Given the description of an element on the screen output the (x, y) to click on. 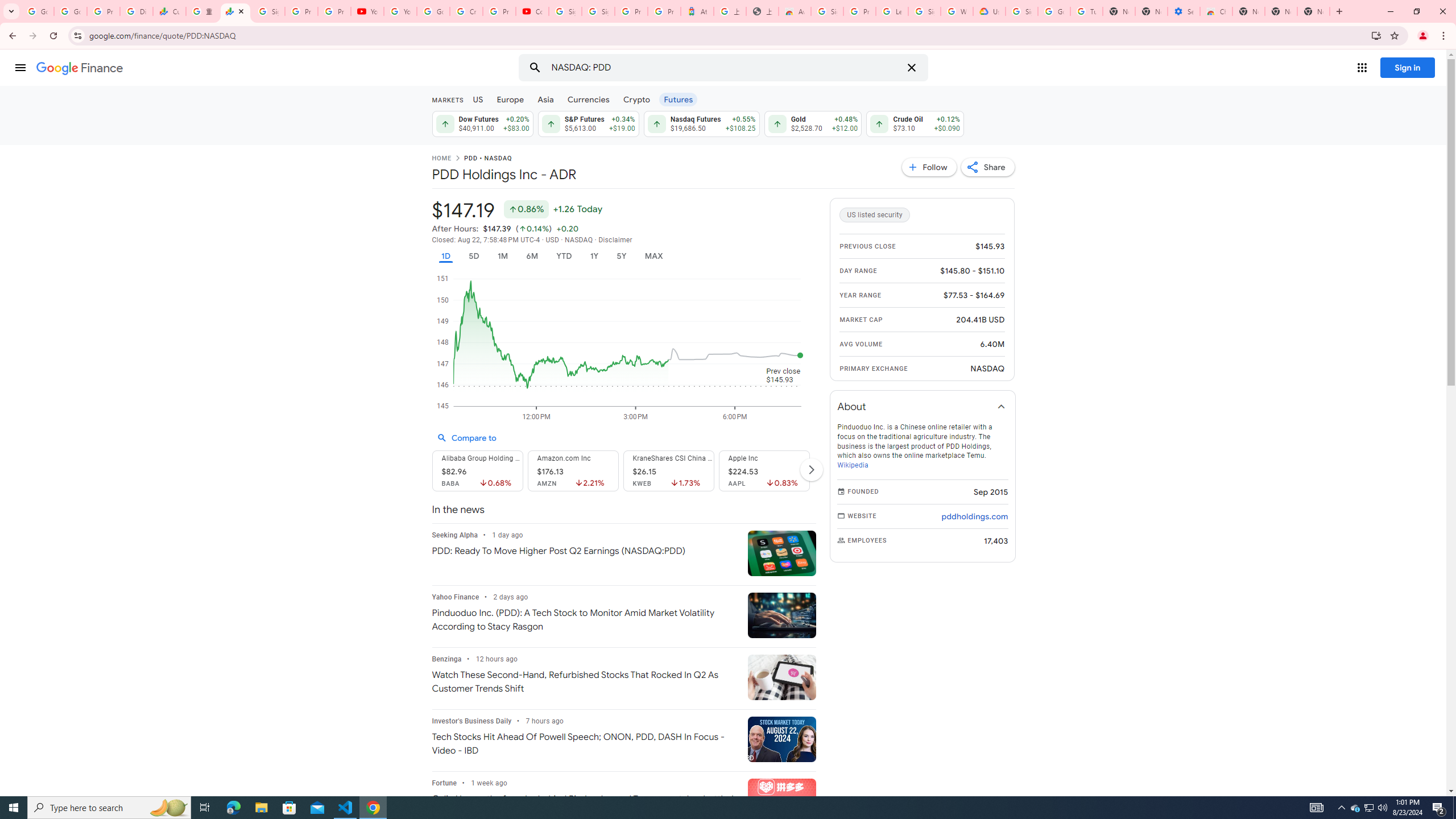
Crude Oil $73.10 $73.13 Up by 0.12% +$0.090 +$0.12 (914, 123)
Sign in - Google Accounts (564, 11)
Chrome Web Store - Accessibility extensions (1216, 11)
1M (501, 255)
Install Google Finance (1376, 35)
About (923, 406)
Sign in - Google Accounts (268, 11)
System (6, 6)
Europe (510, 99)
Atour Hotel - Google hotels (697, 11)
